Given the description of an element on the screen output the (x, y) to click on. 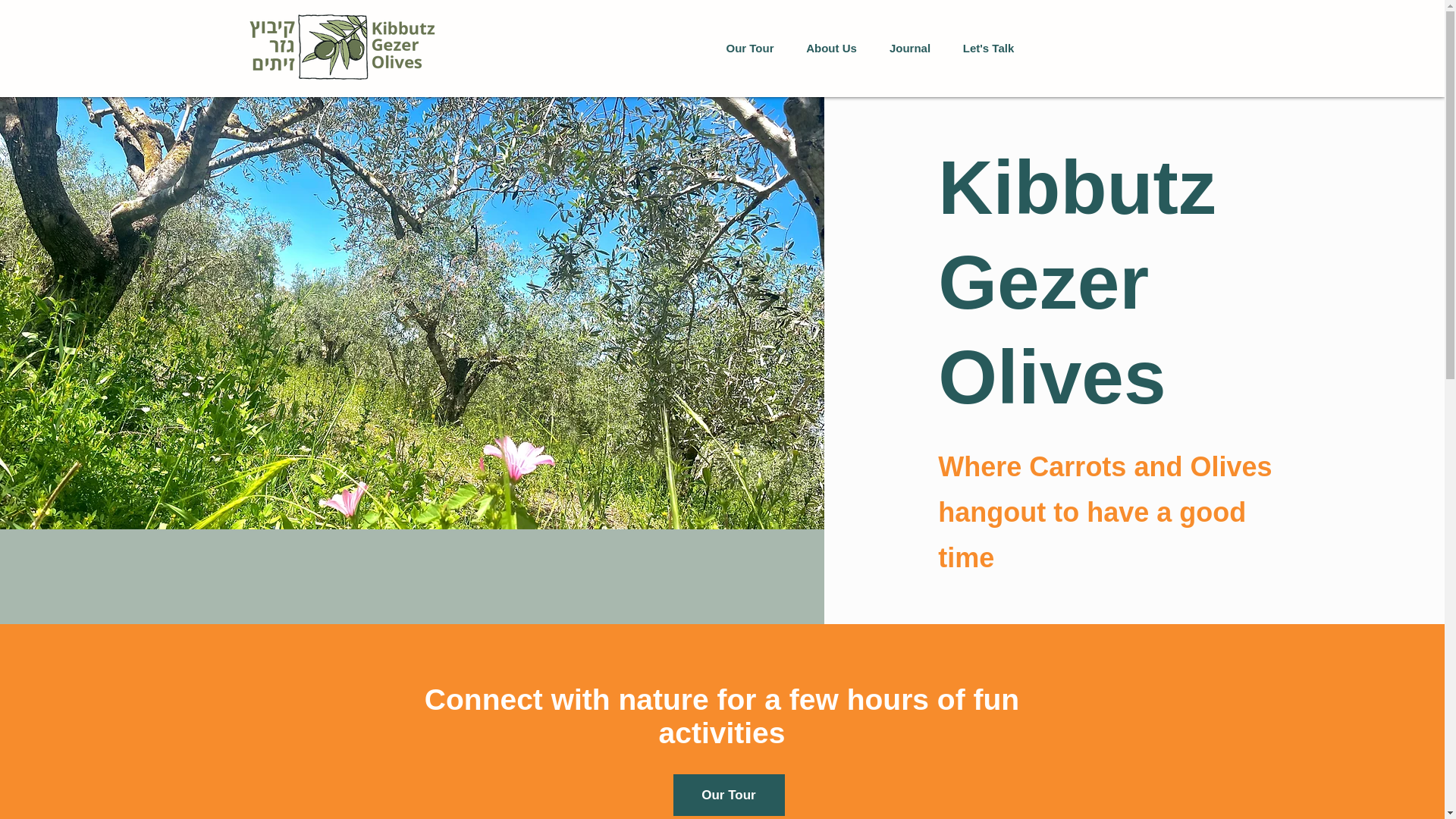
Journal (910, 48)
Let's Talk (987, 48)
Our Tour (728, 794)
About Us (831, 48)
Our Tour (749, 48)
